Given the description of an element on the screen output the (x, y) to click on. 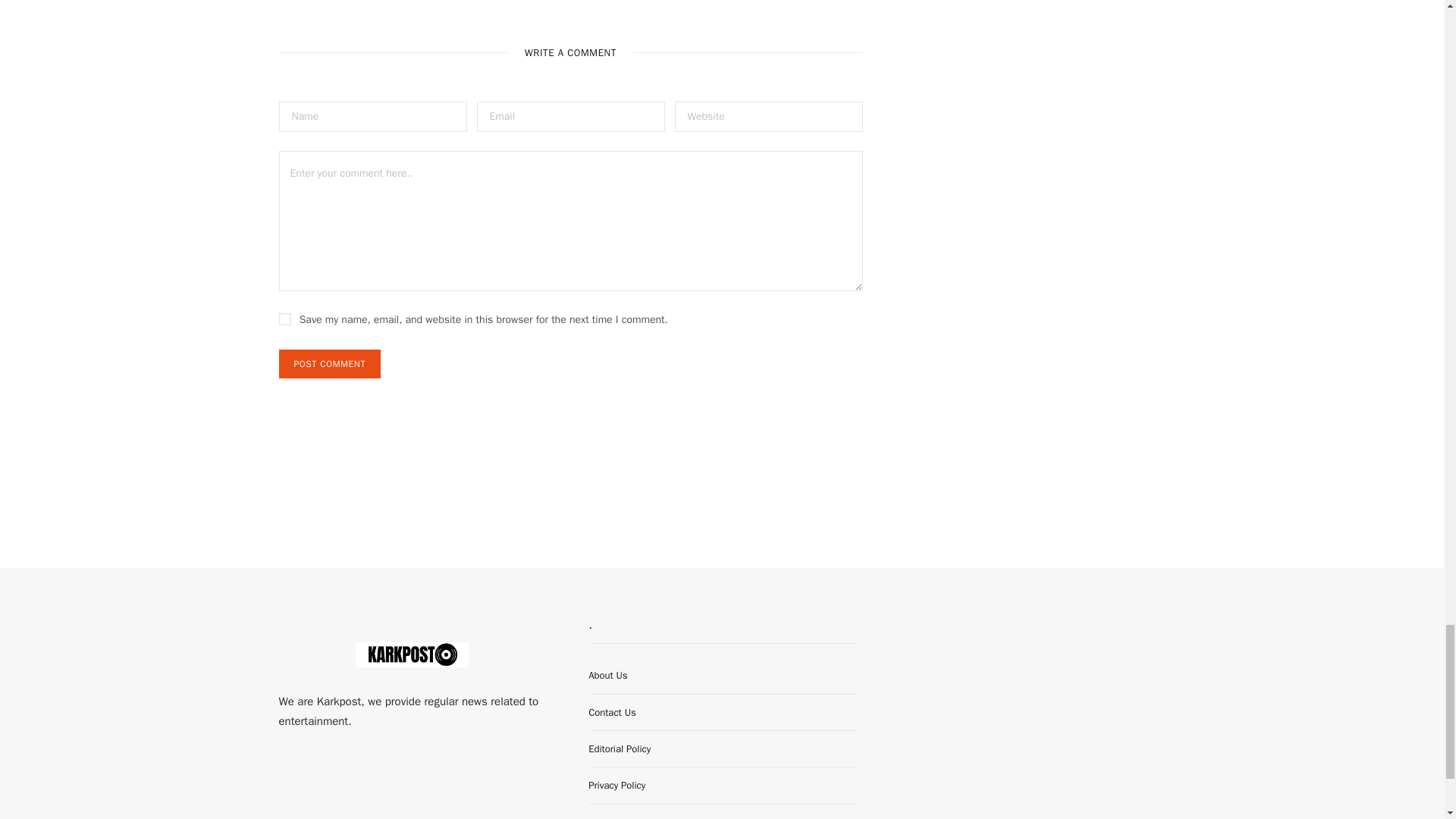
yes (285, 318)
Post Comment (329, 363)
